Given the description of an element on the screen output the (x, y) to click on. 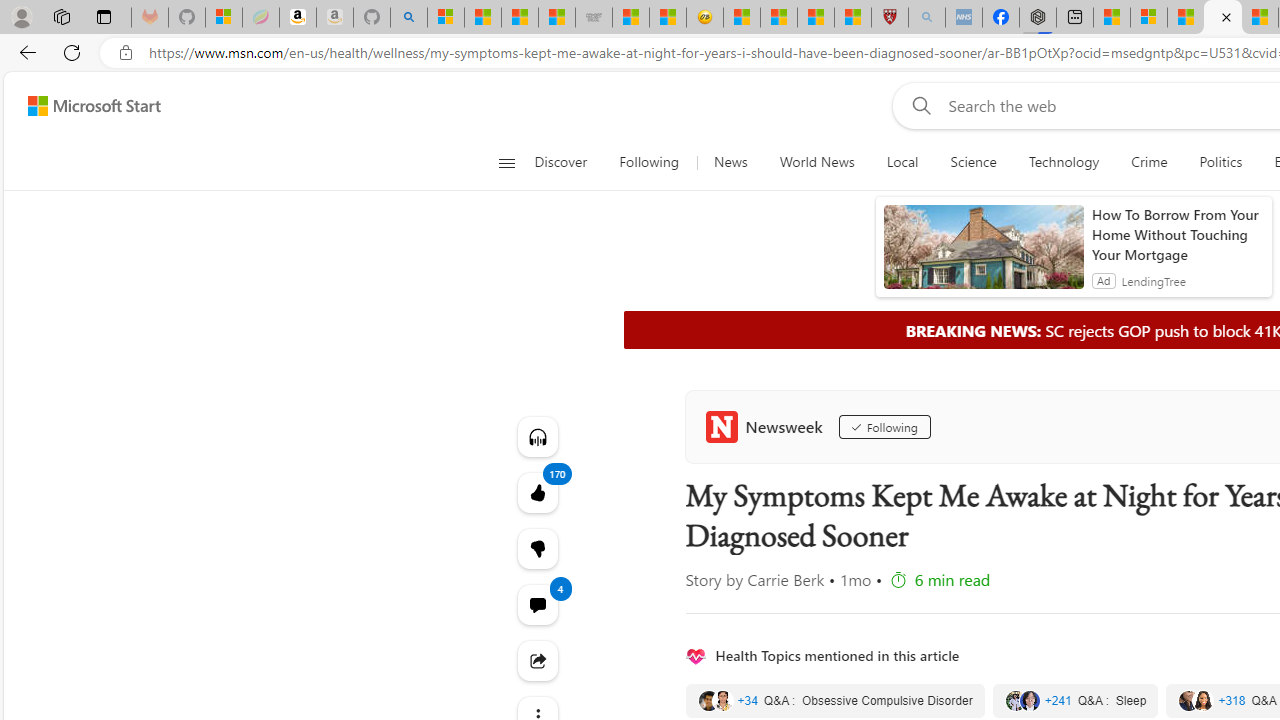
Newsweek (767, 426)
Listen to this article (537, 436)
anim-content (983, 255)
